Given the description of an element on the screen output the (x, y) to click on. 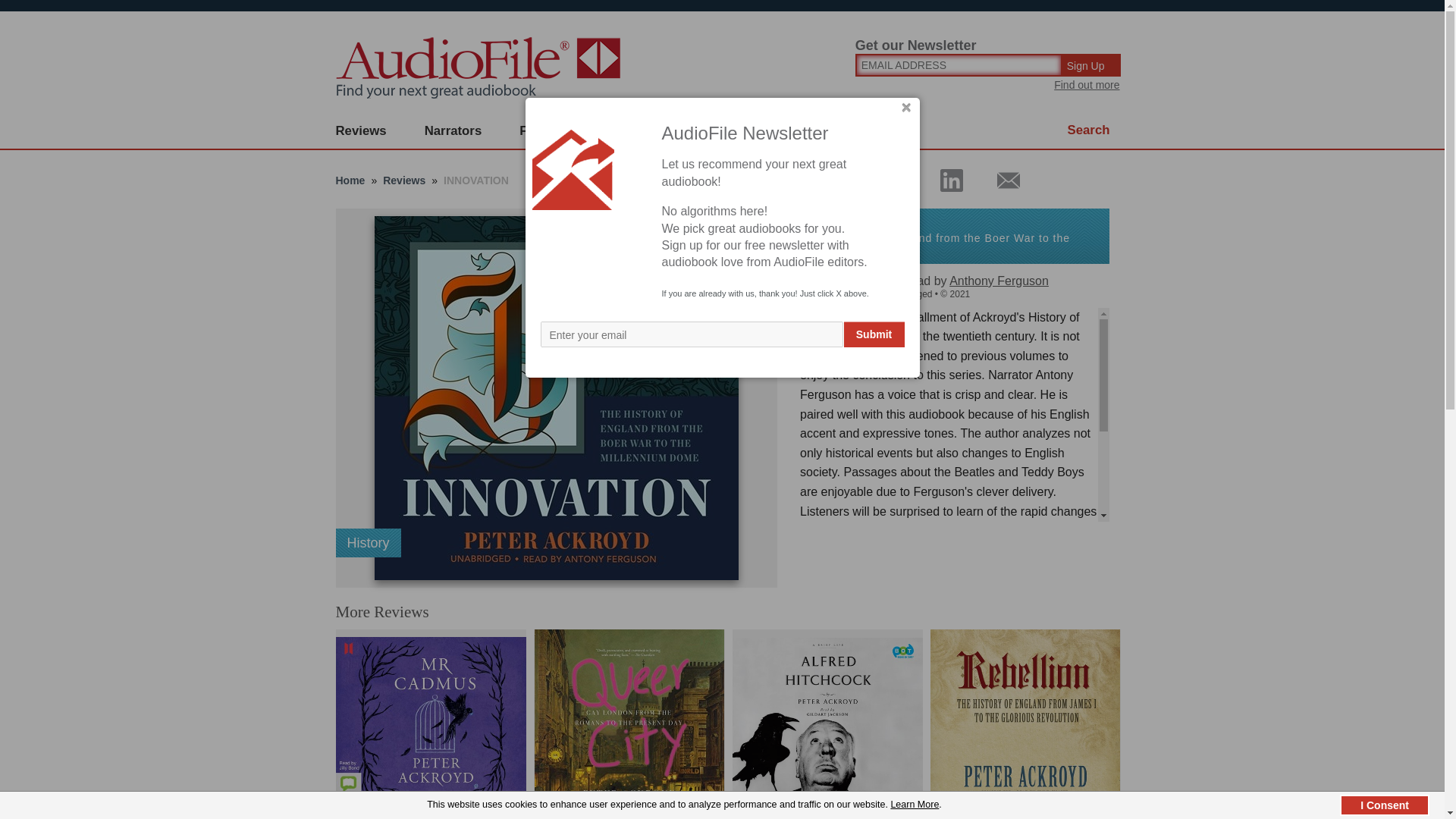
AudioFileMagazine - Share by Email (999, 180)
Features (545, 131)
Subscribe (640, 131)
Search (1089, 130)
Sign Up (1091, 65)
Reviews (360, 131)
Narrators (453, 131)
About (727, 131)
Find out more (1086, 84)
Submit (873, 334)
Articles (808, 131)
